Given the description of an element on the screen output the (x, y) to click on. 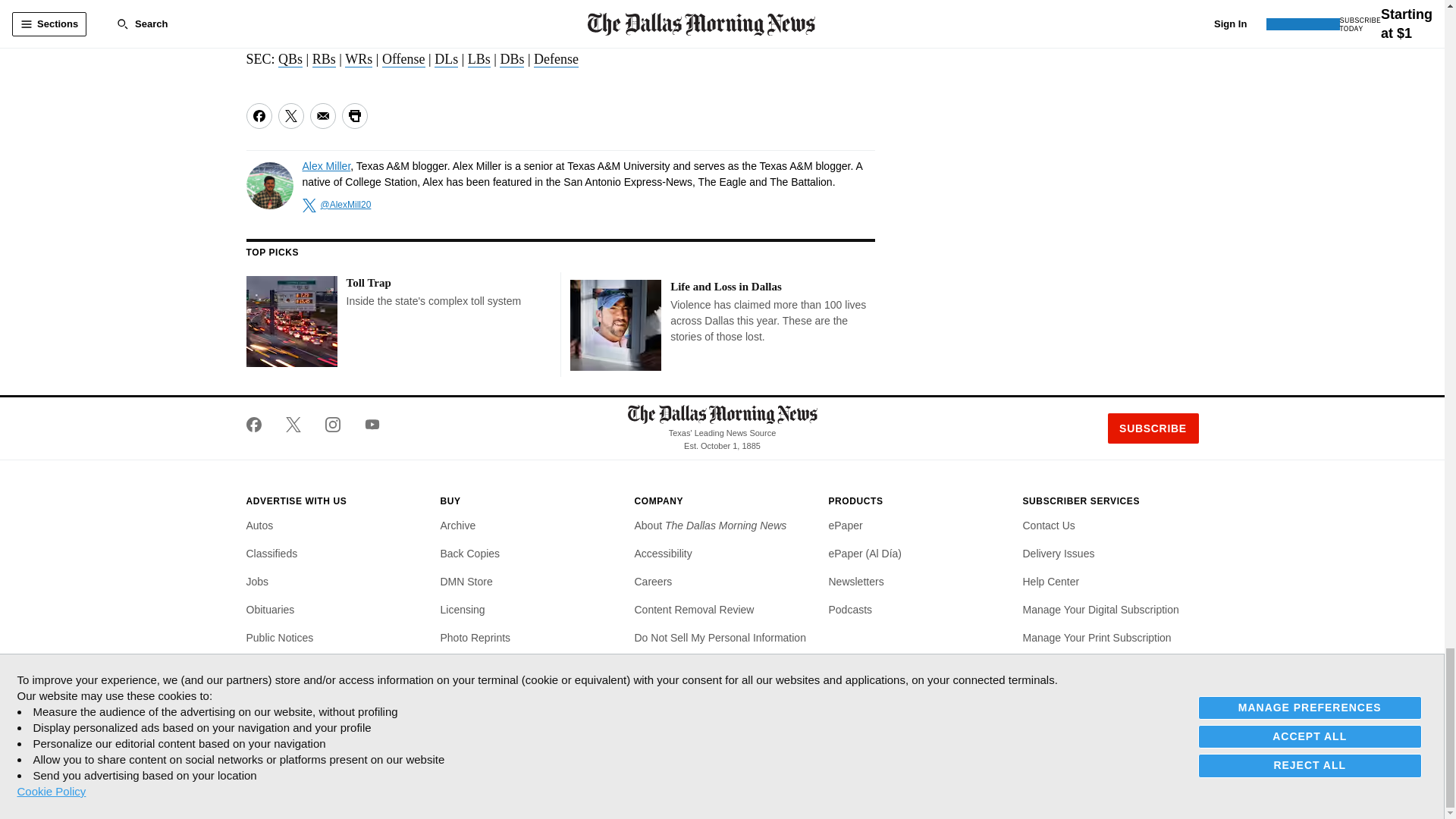
The Dallas Morning News on Facebook (259, 424)
The Dallas Morning News on Instagram (332, 424)
Print (353, 115)
Share via Email (321, 115)
The Dallas Morning News on Twitter (293, 424)
Share on Facebook (258, 115)
Share on Twitter (290, 115)
The Dallas Morning News on YouTube (365, 424)
